Given the description of an element on the screen output the (x, y) to click on. 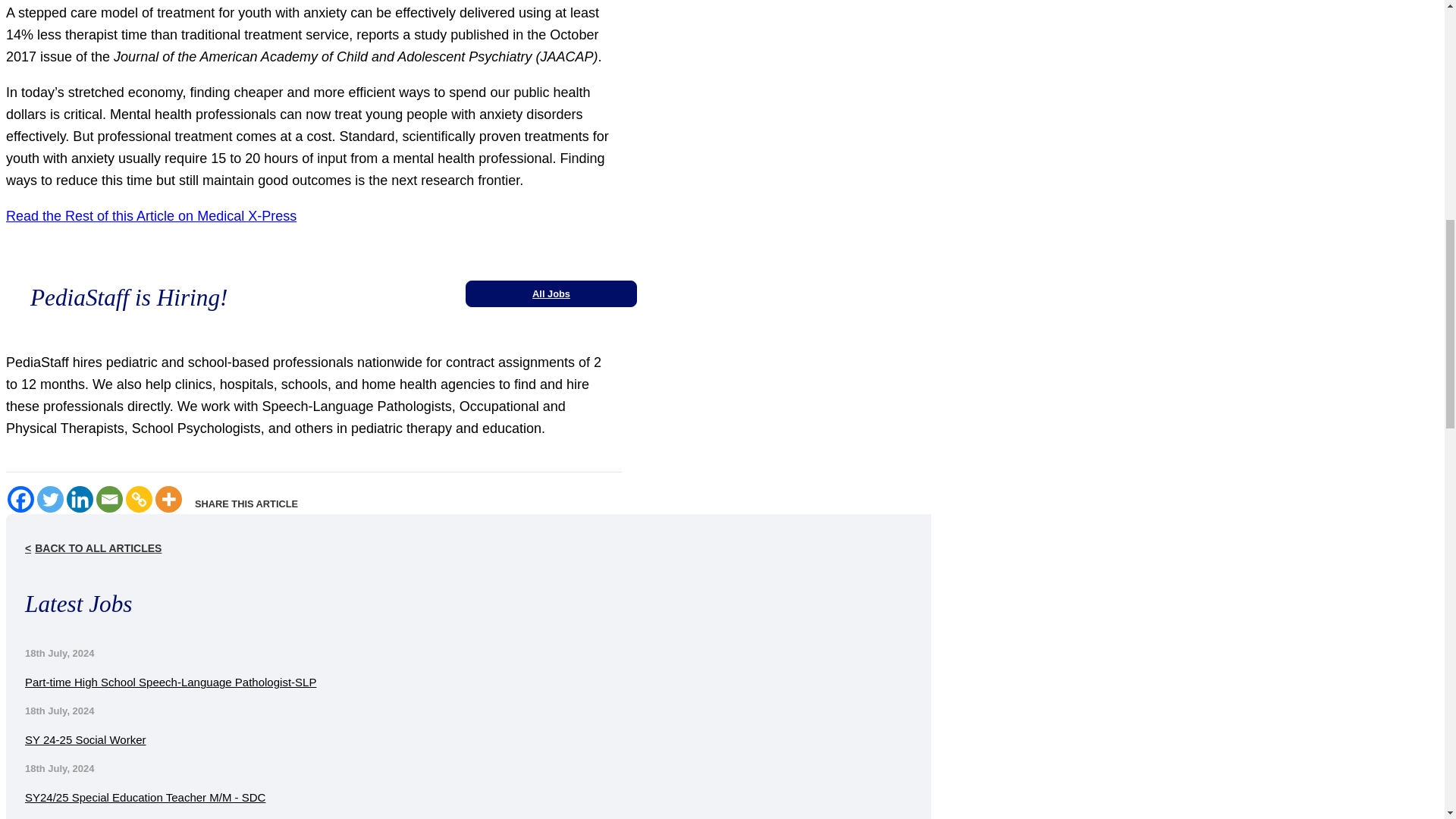
Email (109, 499)
Linkedin (79, 499)
Twitter (50, 499)
Copy Link (138, 499)
More (168, 499)
Facebook (20, 499)
